Given the description of an element on the screen output the (x, y) to click on. 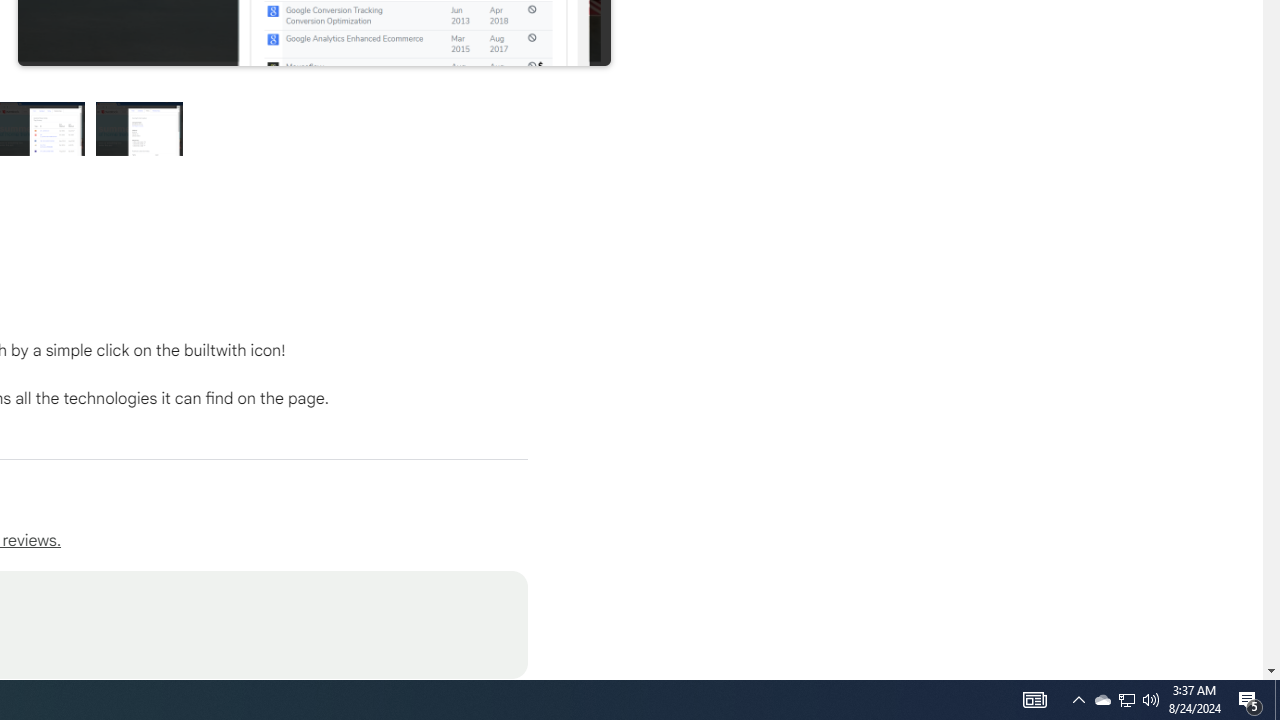
Preview slide 4 (140, 128)
